Given the description of an element on the screen output the (x, y) to click on. 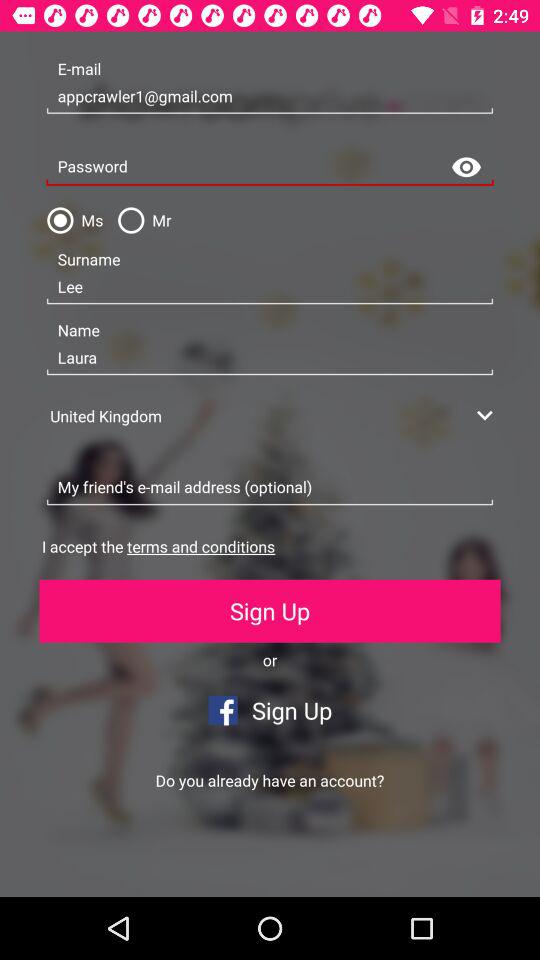
turn on the item next to the mr icon (71, 220)
